Given the description of an element on the screen output the (x, y) to click on. 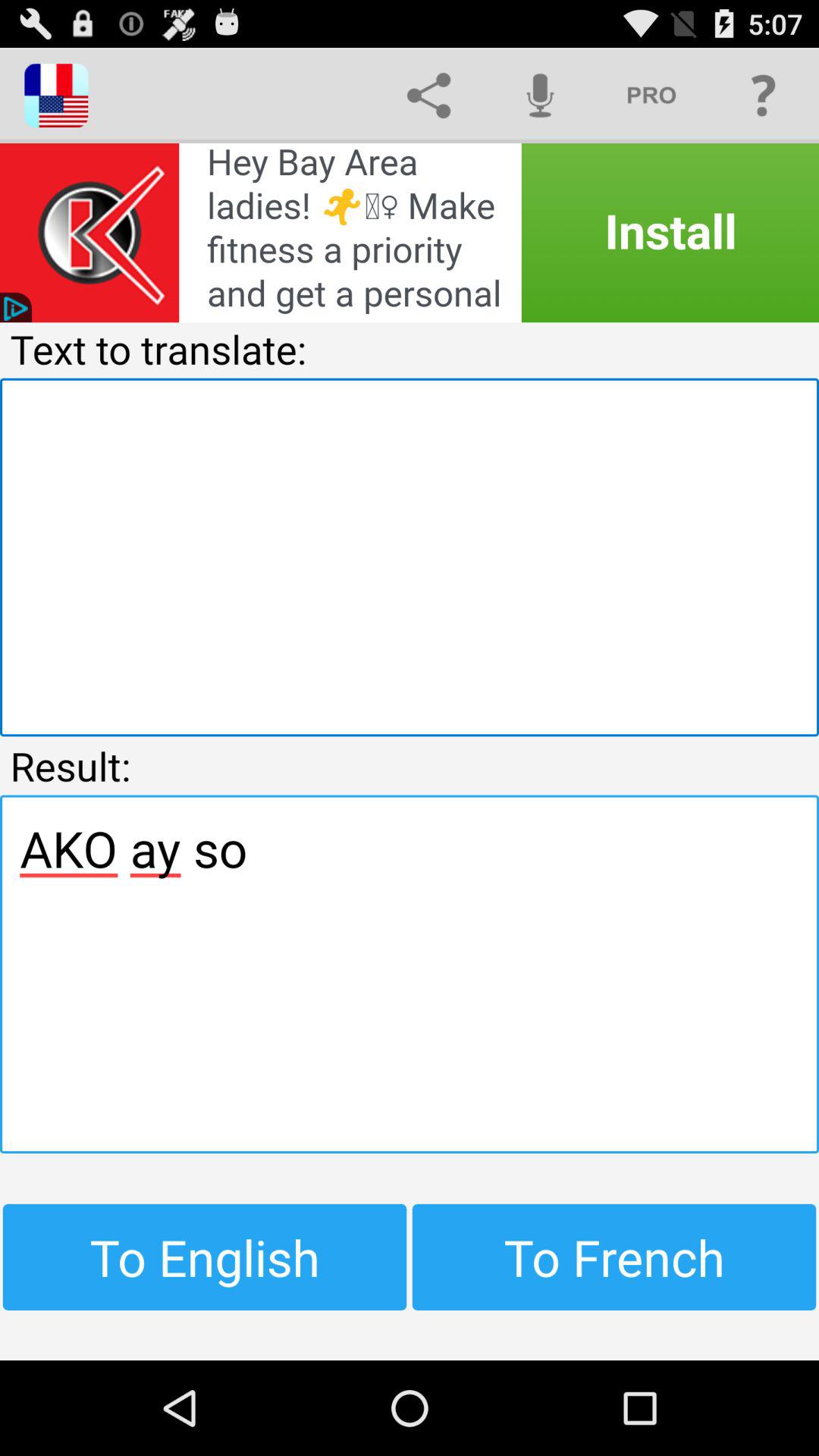
turn on item above to english icon (409, 974)
